Given the description of an element on the screen output the (x, y) to click on. 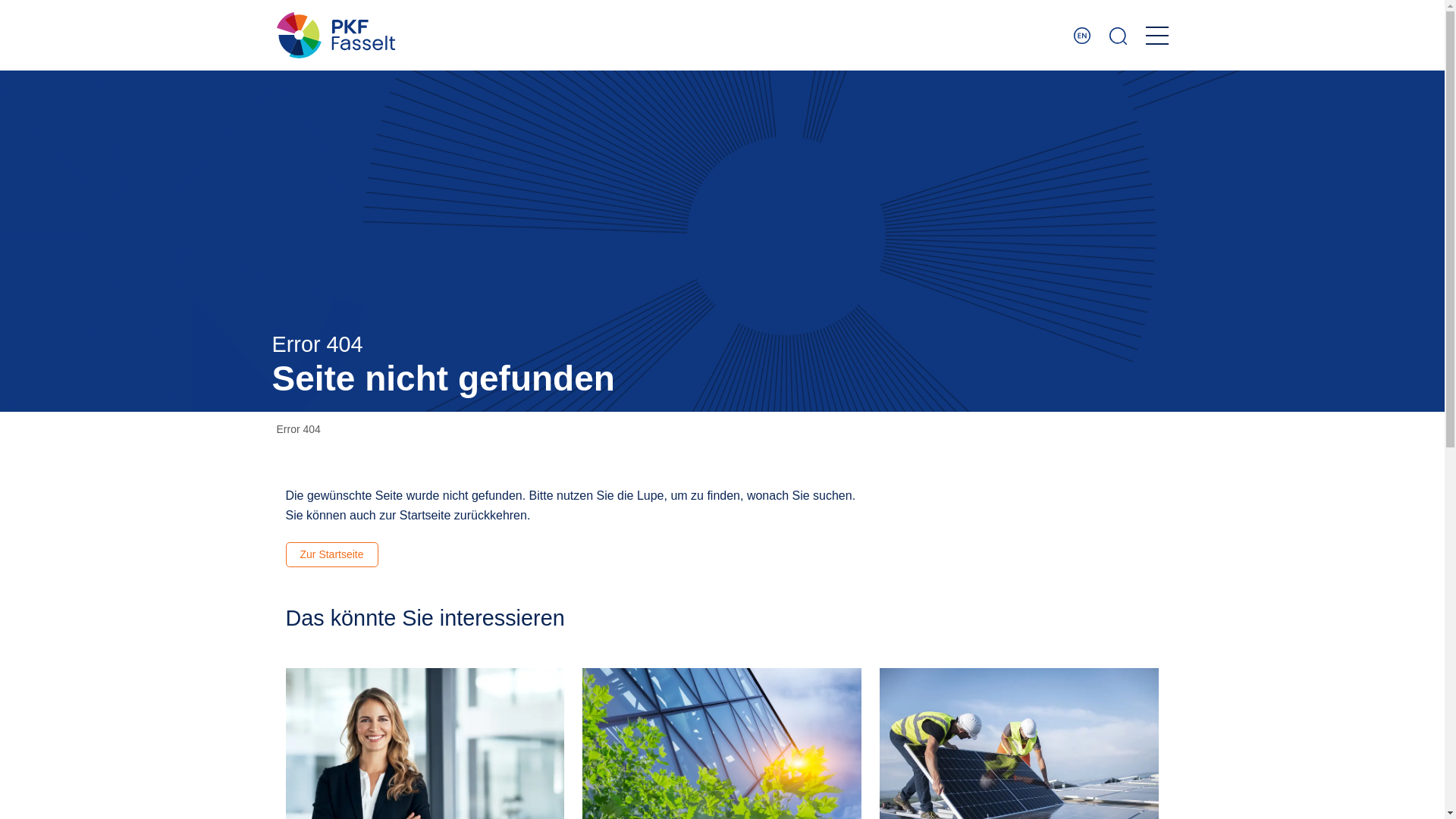
PKF Fasselt (335, 35)
Search (1117, 34)
1405880267 (1018, 743)
Search (1117, 34)
